Given the description of an element on the screen output the (x, y) to click on. 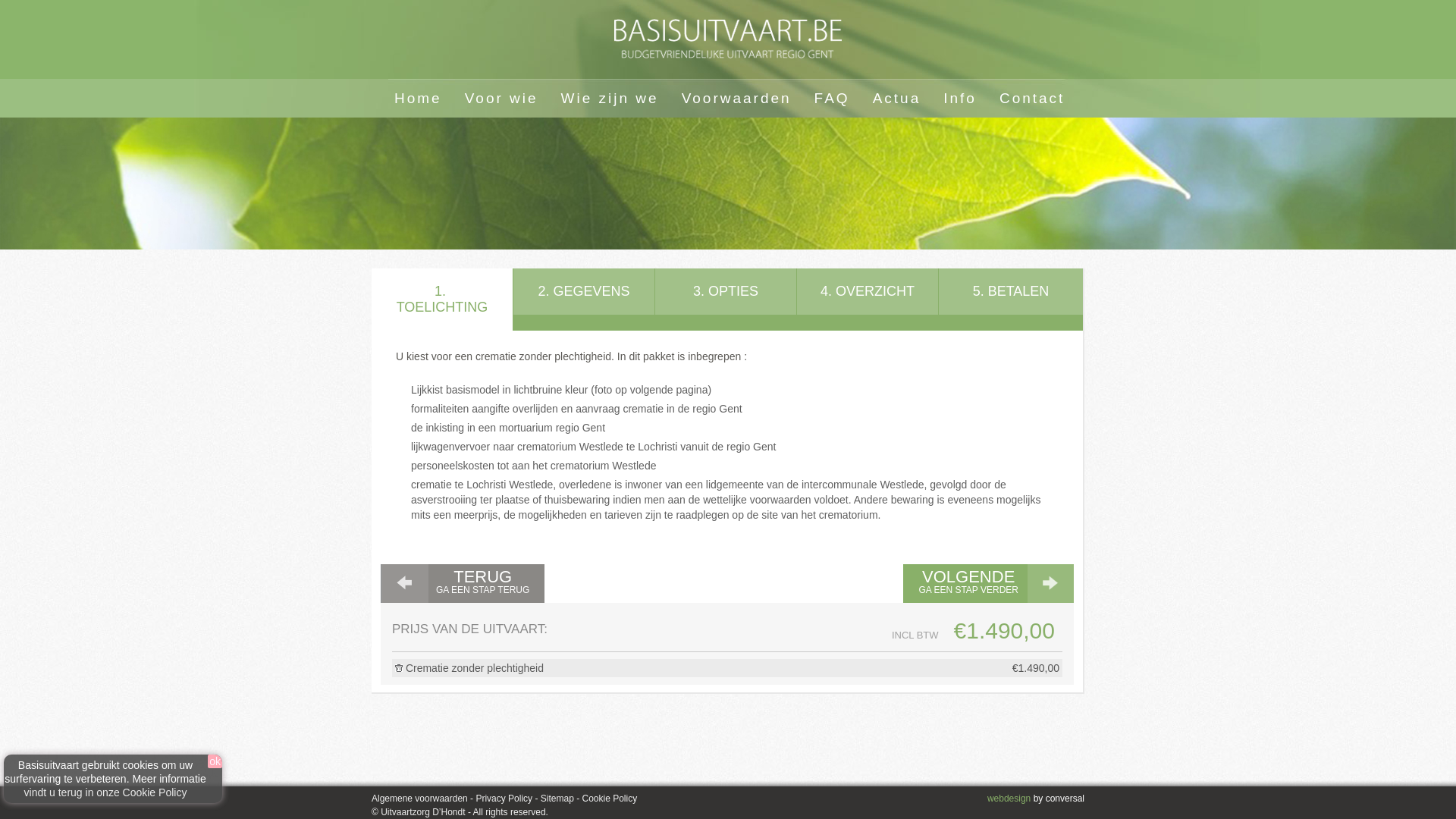
Sitemap Element type: text (555, 798)
Wie zijn we Element type: text (609, 96)
Algemene voorwaarden Element type: text (419, 798)
Cookie Policy Element type: text (608, 798)
FAQ Element type: text (832, 96)
Cookie Policy Element type: text (154, 792)
Privacy Policy Element type: text (503, 798)
VOLGENDE
GA EEN STAP VERDER Element type: text (988, 583)
TERUG
GA EEN STAP TERUG Element type: text (462, 583)
Voor wie Element type: text (501, 96)
Voorwaarden Element type: text (736, 96)
ok Element type: text (214, 761)
Contact Element type: text (1032, 96)
Basis Uitvaart Element type: hover (727, 38)
webdesign by conversal Element type: text (1035, 798)
Actua Element type: text (896, 96)
Info Element type: text (959, 96)
Home Element type: text (417, 96)
